Given the description of an element on the screen output the (x, y) to click on. 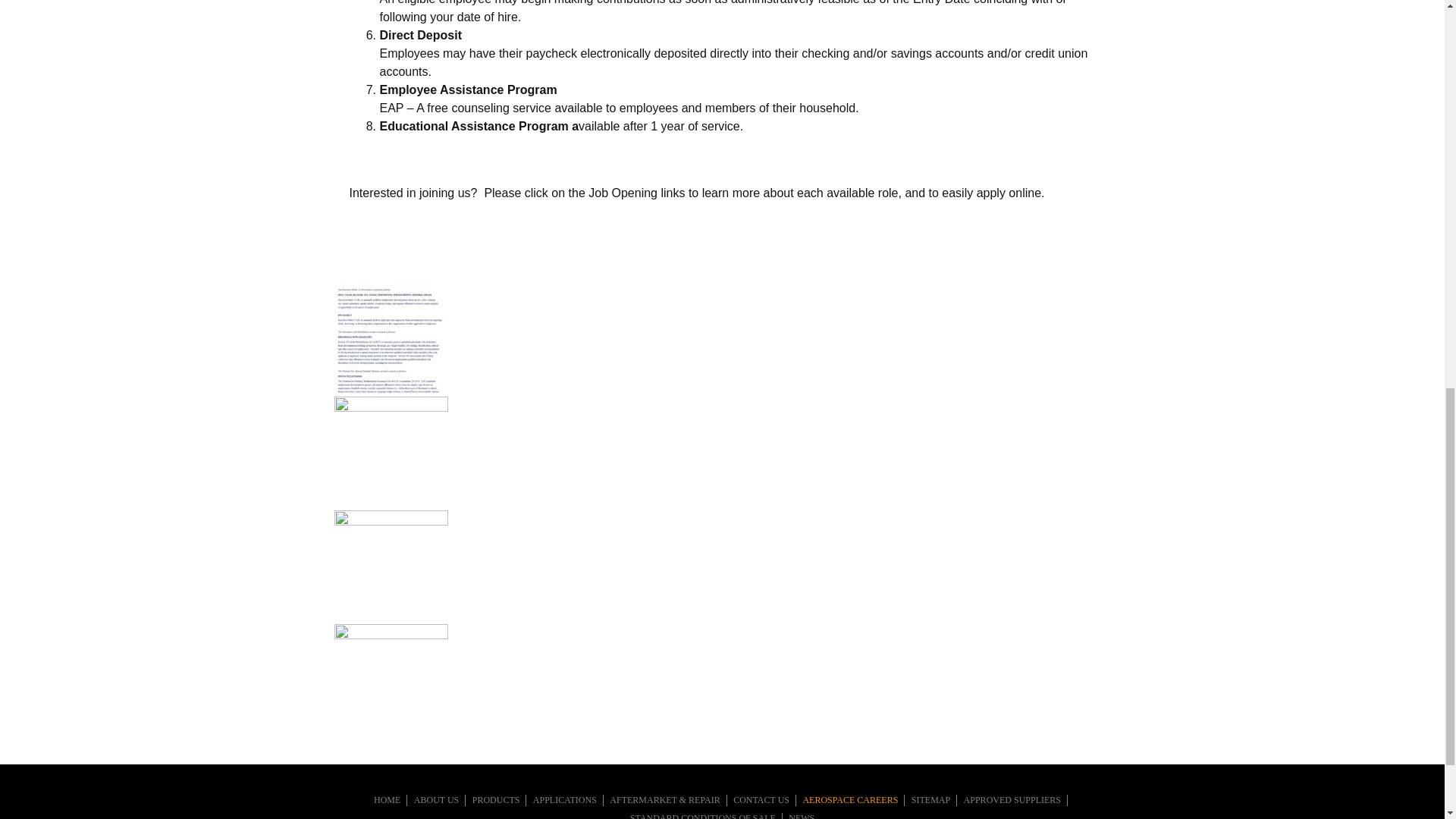
EEO3 (389, 567)
EEO1 (389, 339)
HOME (387, 799)
ABOUT US (435, 799)
CONTACT US (761, 799)
NEWS (801, 816)
APPROVED SUPPLIERS (1012, 799)
EEO4 (389, 680)
SITEMAP (930, 799)
AEROSPACE CAREERS (850, 799)
